Given the description of an element on the screen output the (x, y) to click on. 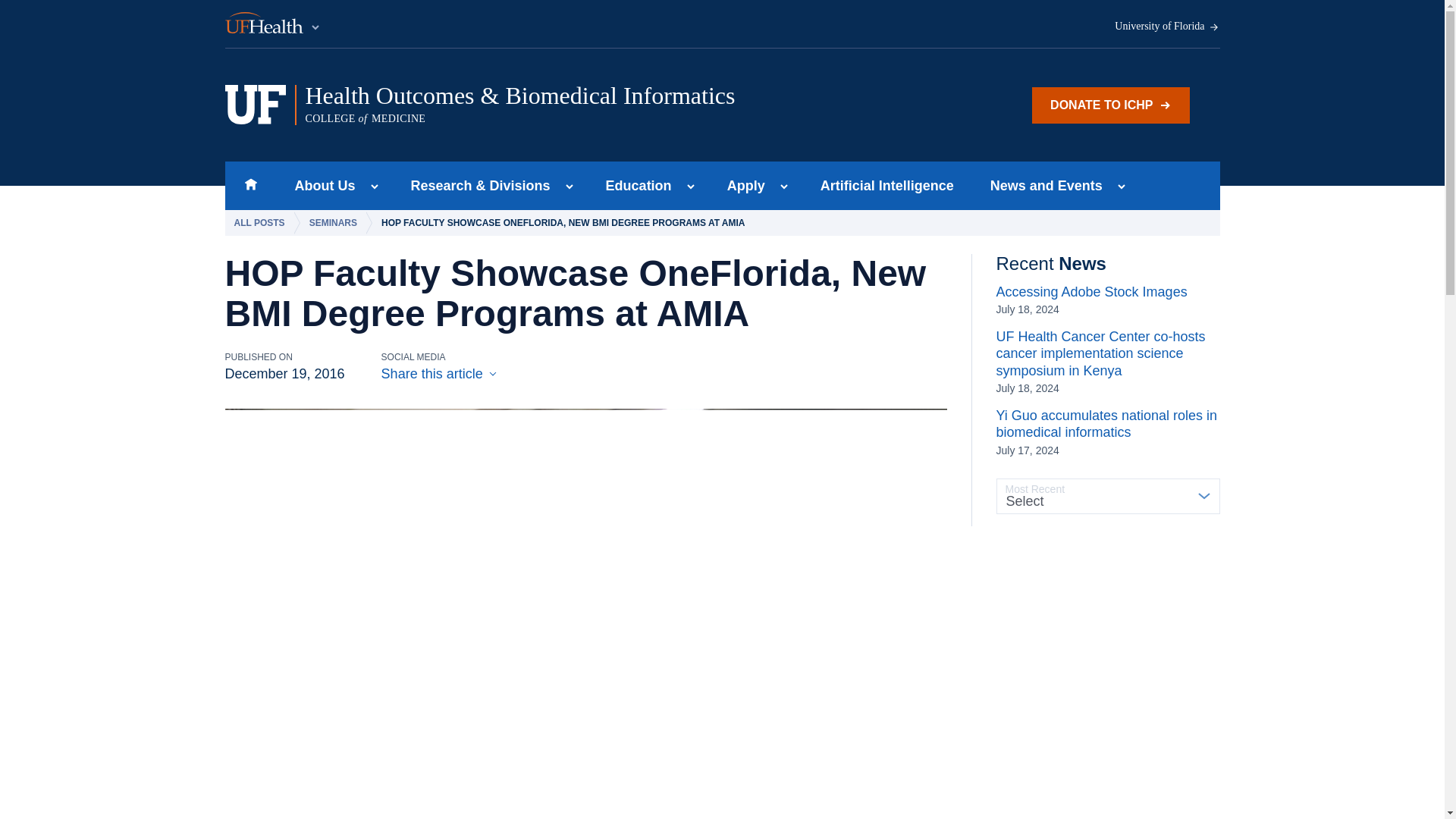
University of Florida (1167, 26)
About Us (320, 185)
DONATE TO ICHP (1110, 104)
UF Health (272, 24)
Education (634, 185)
Home (250, 185)
